Given the description of an element on the screen output the (x, y) to click on. 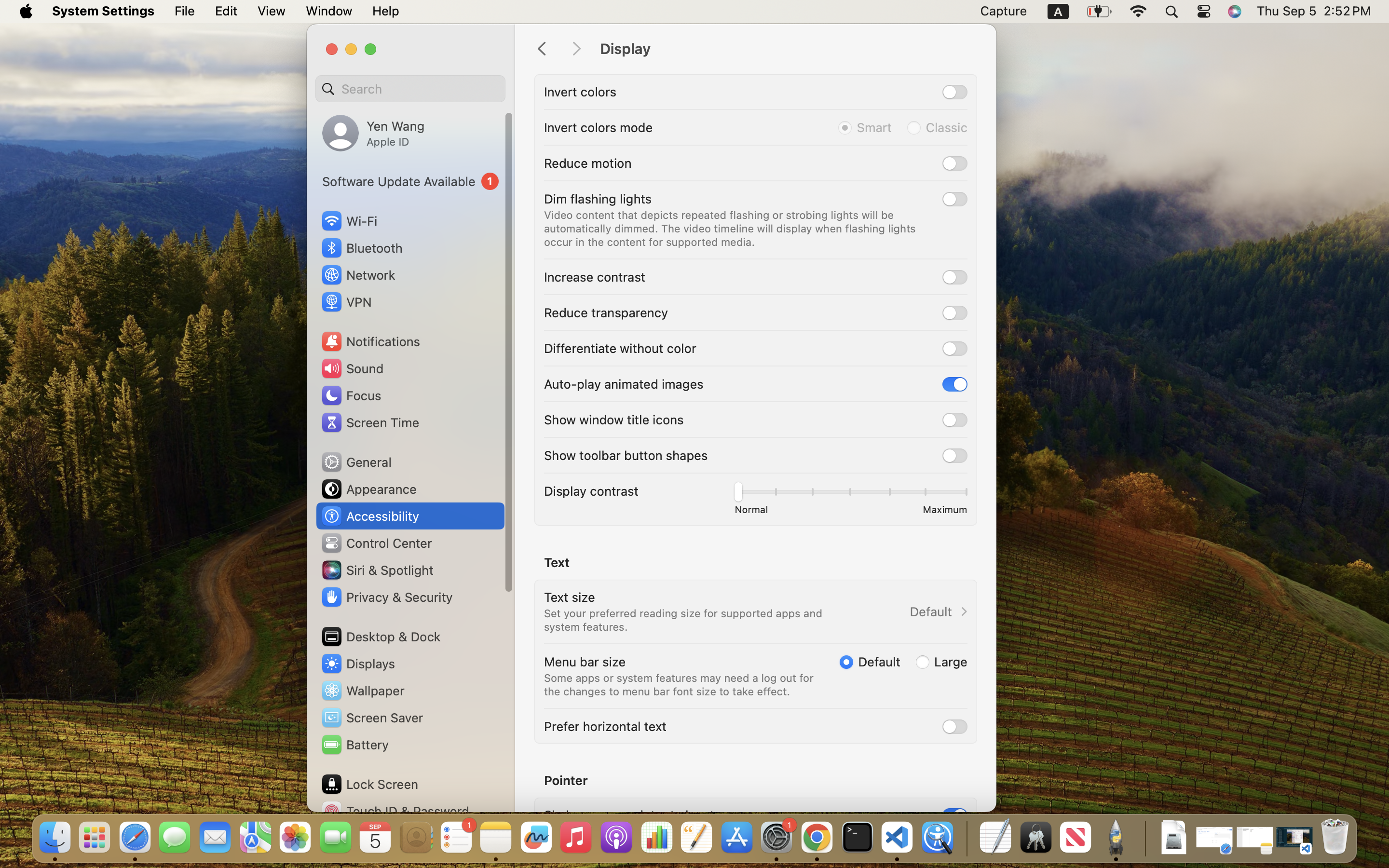
Lock Screen Element type: AXStaticText (369, 783)
Shake mouse pointer to locate Element type: AXStaticText (632, 814)
Dim flashing lights Element type: AXStaticText (598, 198)
0.0 Element type: AXSlider (850, 493)
Wallpaper Element type: AXStaticText (362, 690)
